Given the description of an element on the screen output the (x, y) to click on. 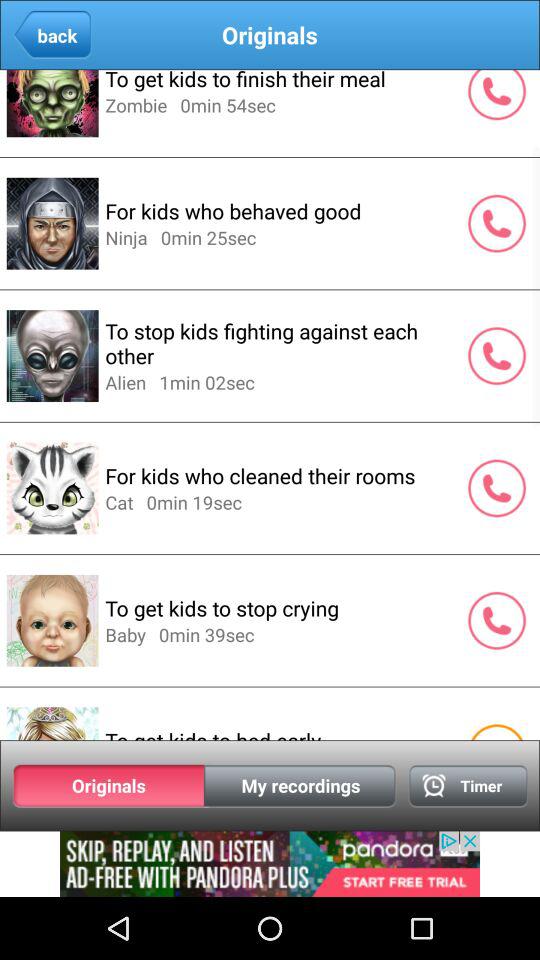
advertisement (270, 864)
